Given the description of an element on the screen output the (x, y) to click on. 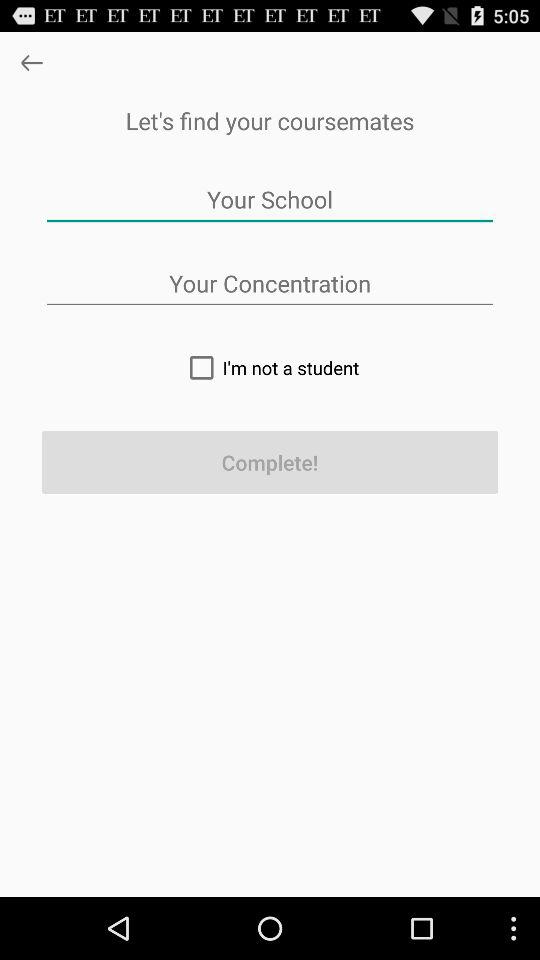
type in your area of study in the textbox (270, 283)
